Given the description of an element on the screen output the (x, y) to click on. 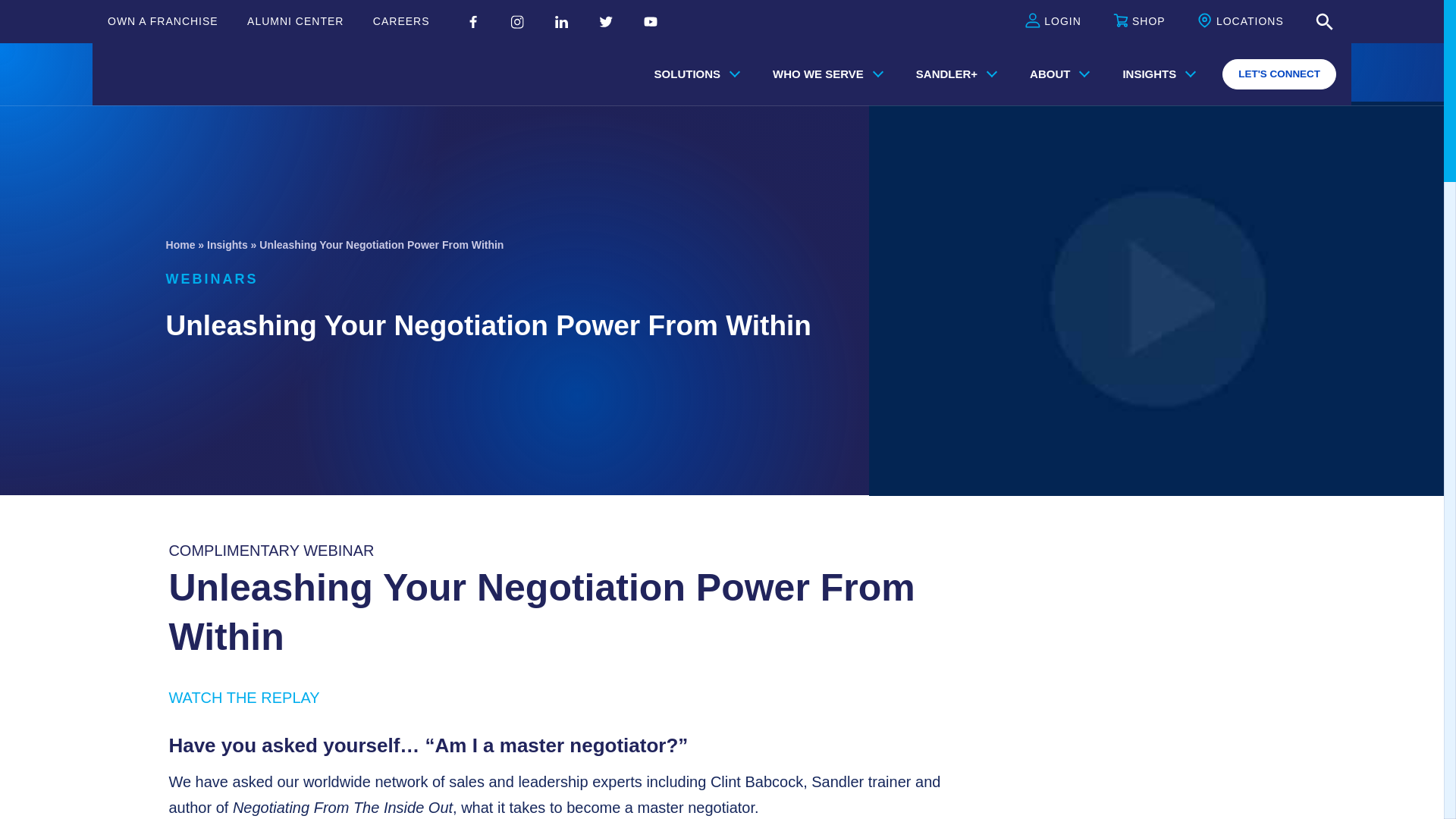
LOGIN (1053, 22)
SHOP (1139, 22)
ALUMNI CENTER (295, 21)
OWN A FRANCHISE (162, 21)
CAREERS (400, 21)
SOLUTIONS (694, 73)
LOCATIONS (1240, 22)
WHO WE SERVE (824, 73)
Open Search (1324, 21)
